Given the description of an element on the screen output the (x, y) to click on. 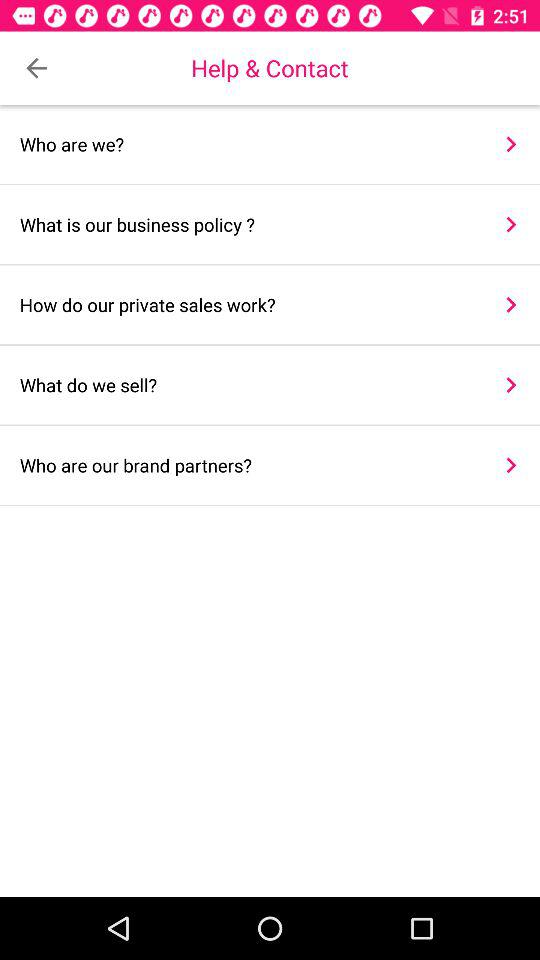
turn on the item above the how do our icon (247, 224)
